Given the description of an element on the screen output the (x, y) to click on. 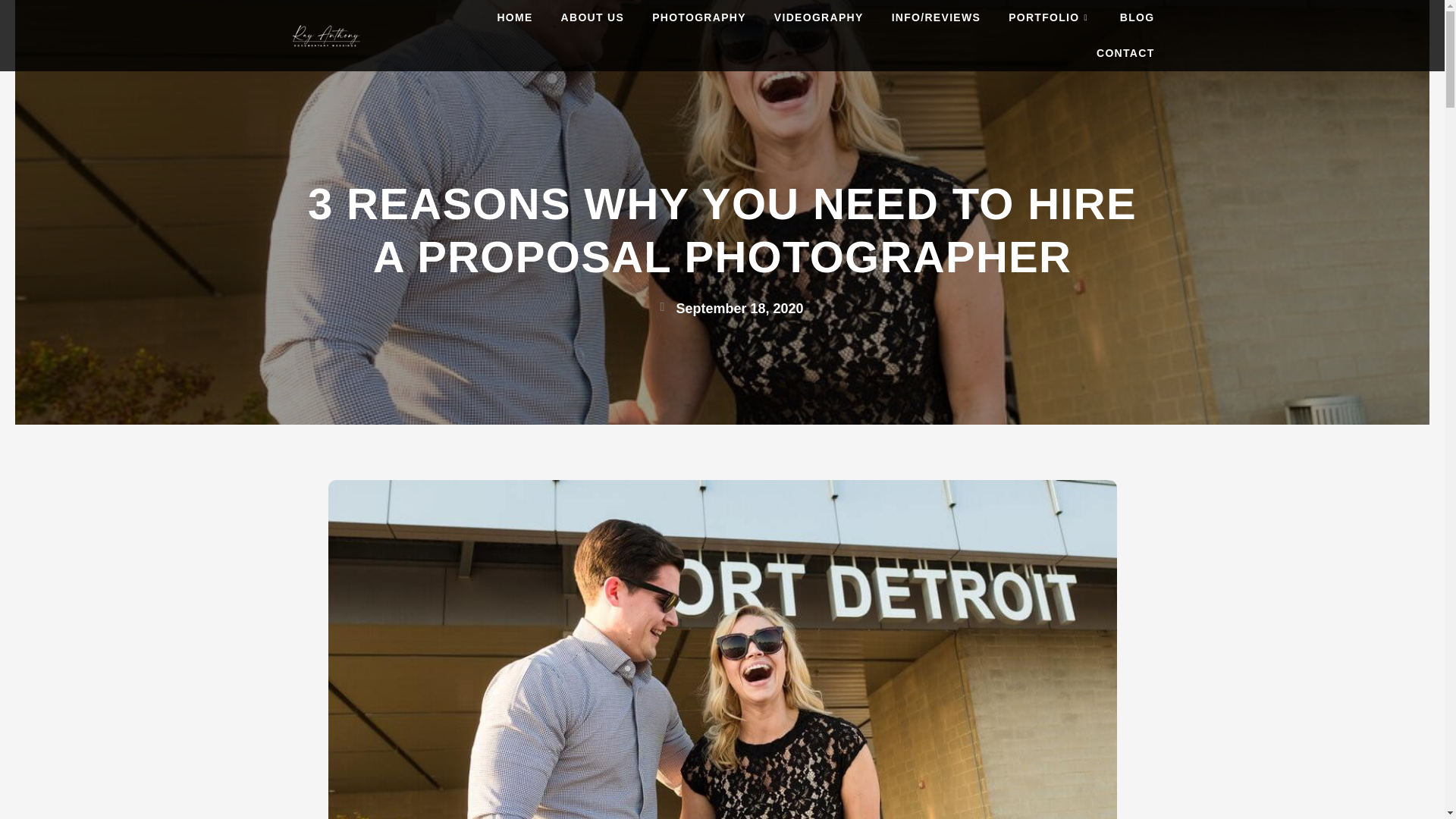
VIDEOGRAPHY (804, 18)
PORTFOLIO (1035, 18)
HOME (500, 18)
BLOG (1123, 18)
PHOTOGRAPHY (684, 18)
CONTACT (1111, 53)
ABOUT US (578, 18)
